Given the description of an element on the screen output the (x, y) to click on. 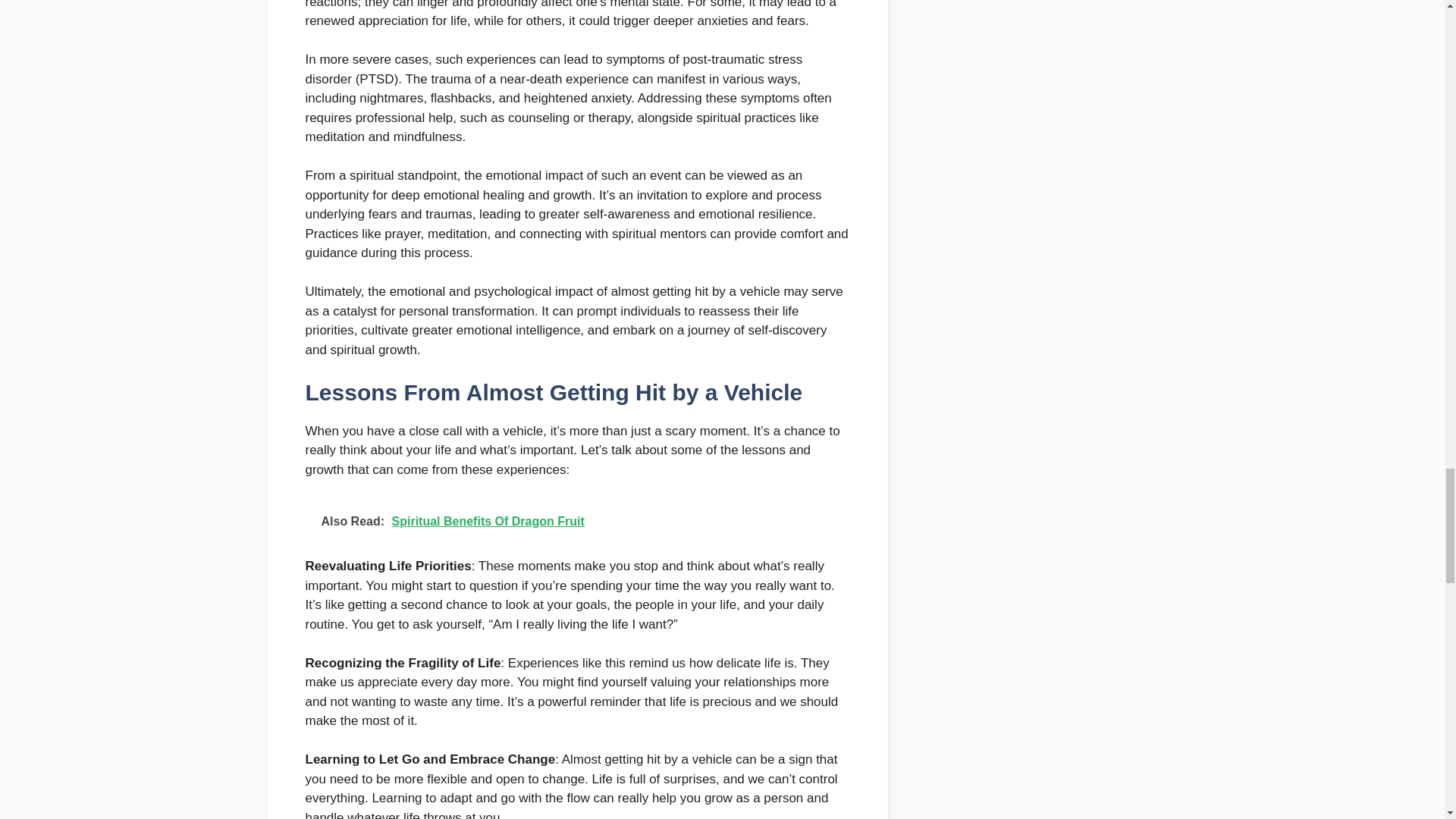
Also Read:  Spiritual Benefits Of Dragon Fruit (576, 521)
